Given the description of an element on the screen output the (x, y) to click on. 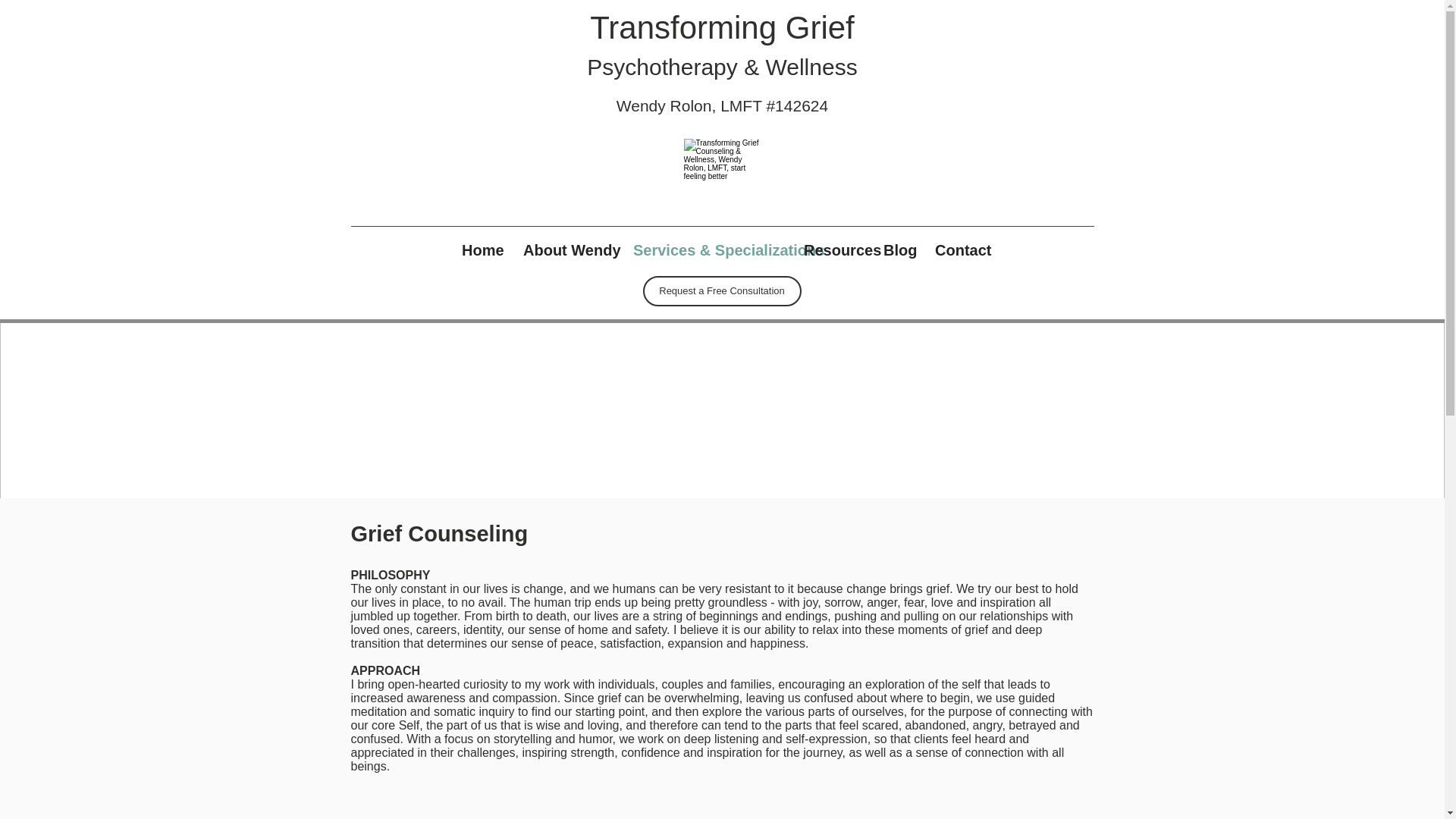
Request a Free Consultation (722, 291)
Blog (897, 250)
About Wendy (566, 250)
Contact (958, 250)
Home (480, 250)
Resources (832, 250)
